Given the description of an element on the screen output the (x, y) to click on. 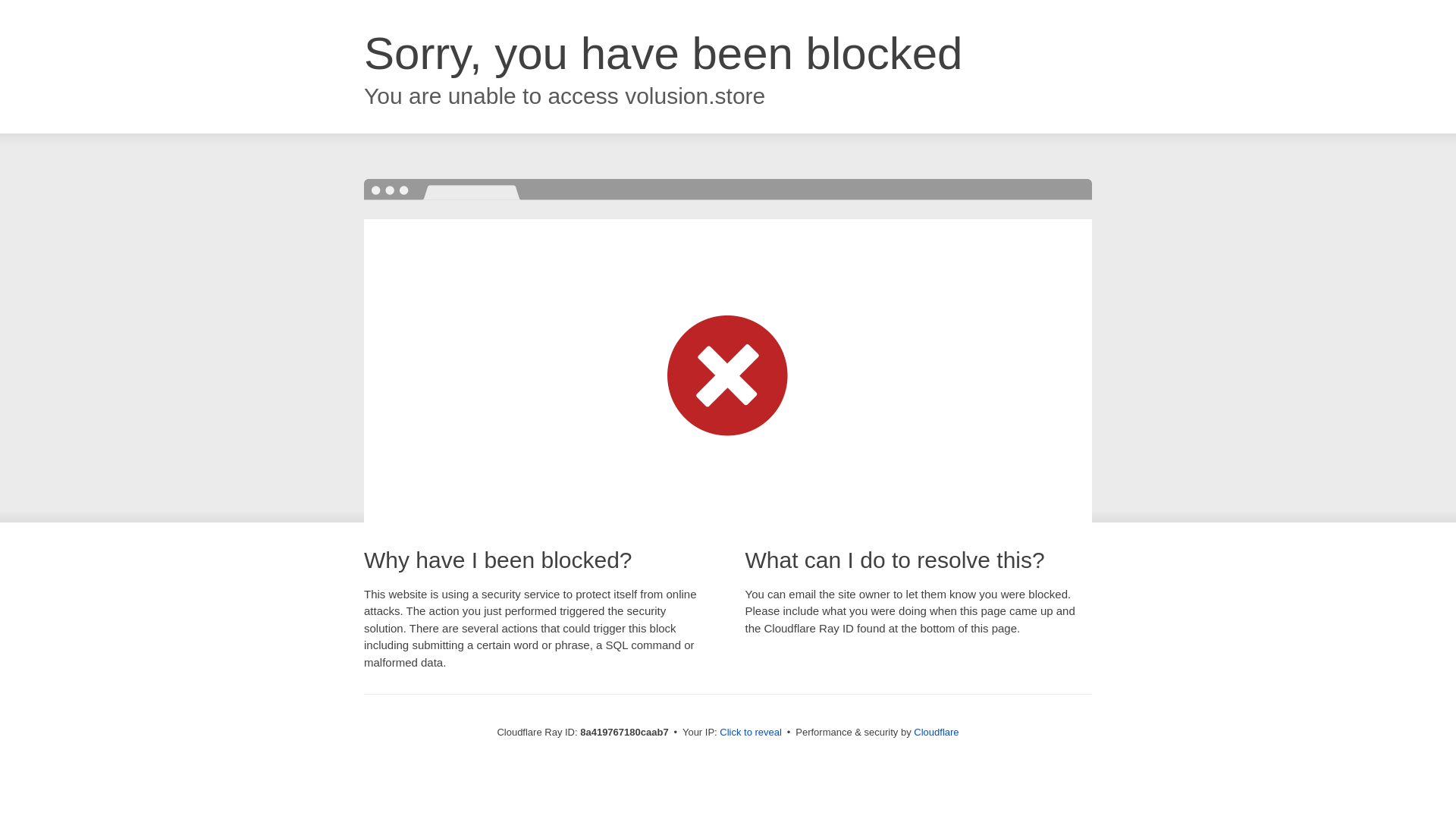
Cloudflare (936, 731)
Click to reveal (750, 732)
